Given the description of an element on the screen output the (x, y) to click on. 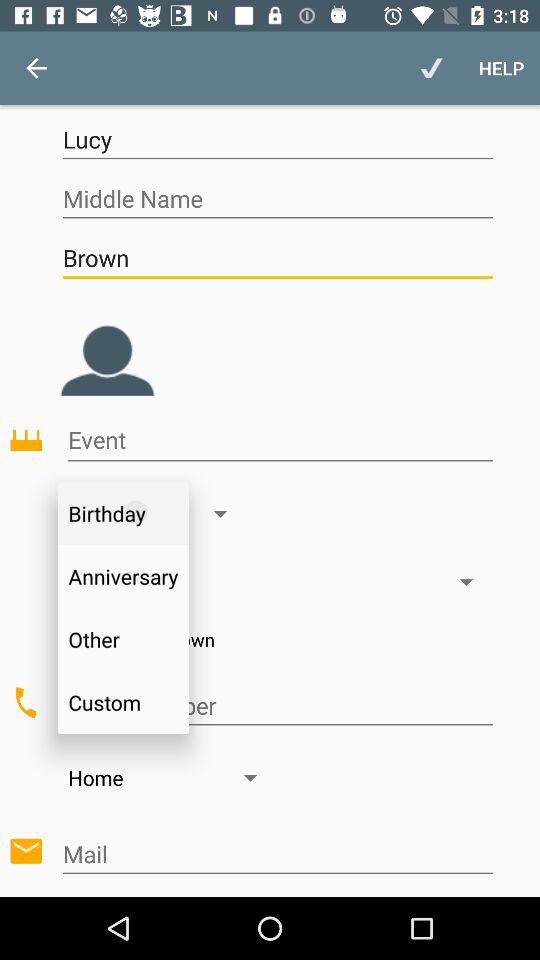
put e-mail (277, 854)
